Given the description of an element on the screen output the (x, y) to click on. 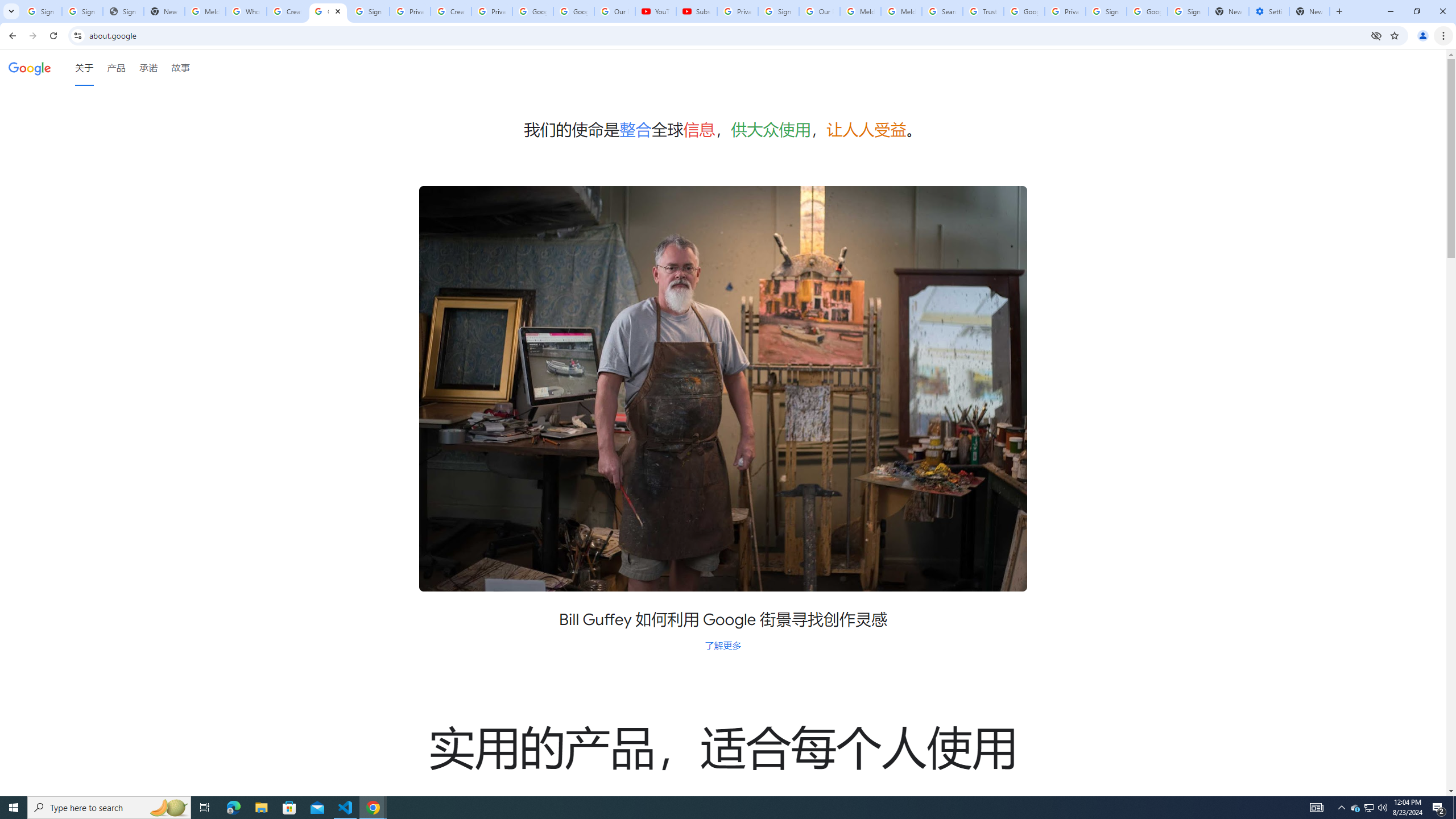
Sign in - Google Accounts (81, 11)
Sign in - Google Accounts (41, 11)
Sign in - Google Accounts (777, 11)
Create your Google Account (450, 11)
